Given the description of an element on the screen output the (x, y) to click on. 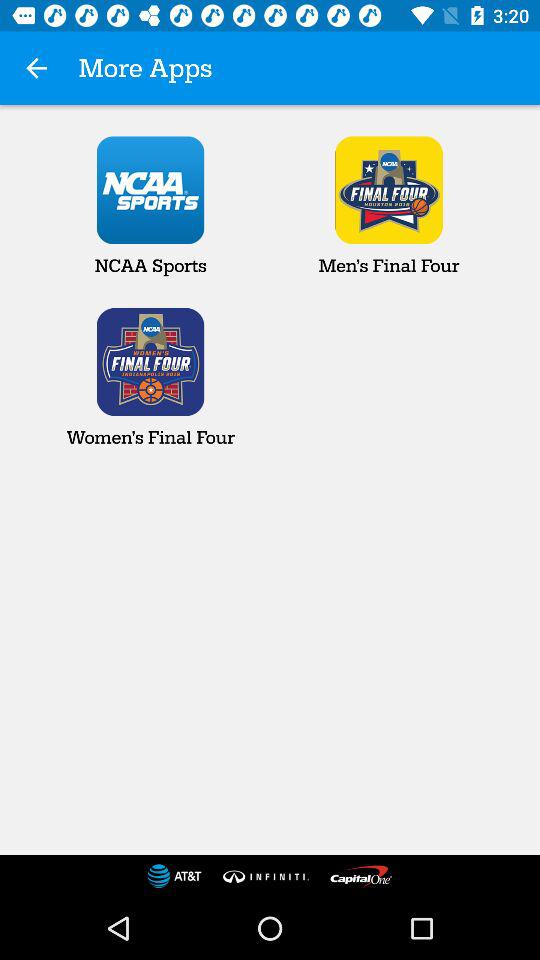
turn on icon above the women s final item (36, 68)
